Given the description of an element on the screen output the (x, y) to click on. 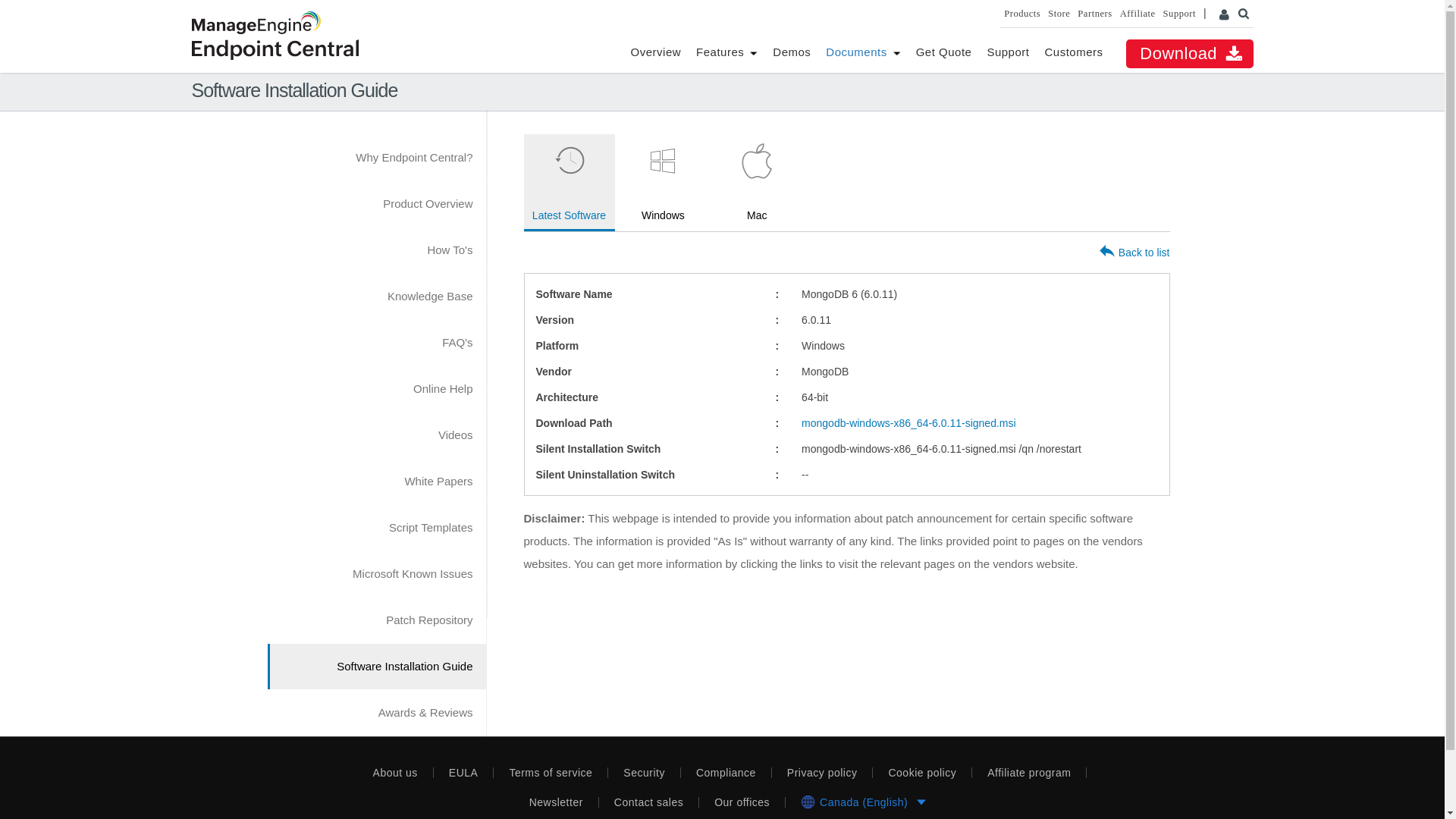
Online Help (375, 388)
Customers (1072, 51)
Script Templates (375, 527)
Features (719, 51)
Download ManageEngine Endpoint Central (1188, 53)
Support (1008, 51)
FAQ's (375, 342)
Get Quote (943, 51)
Knowledge Base (375, 296)
Demos (791, 51)
Overview (655, 51)
Videos (375, 434)
White Papers (375, 481)
Why Endpoint Central (375, 157)
Microsoft Known Issues (375, 574)
